Given the description of an element on the screen output the (x, y) to click on. 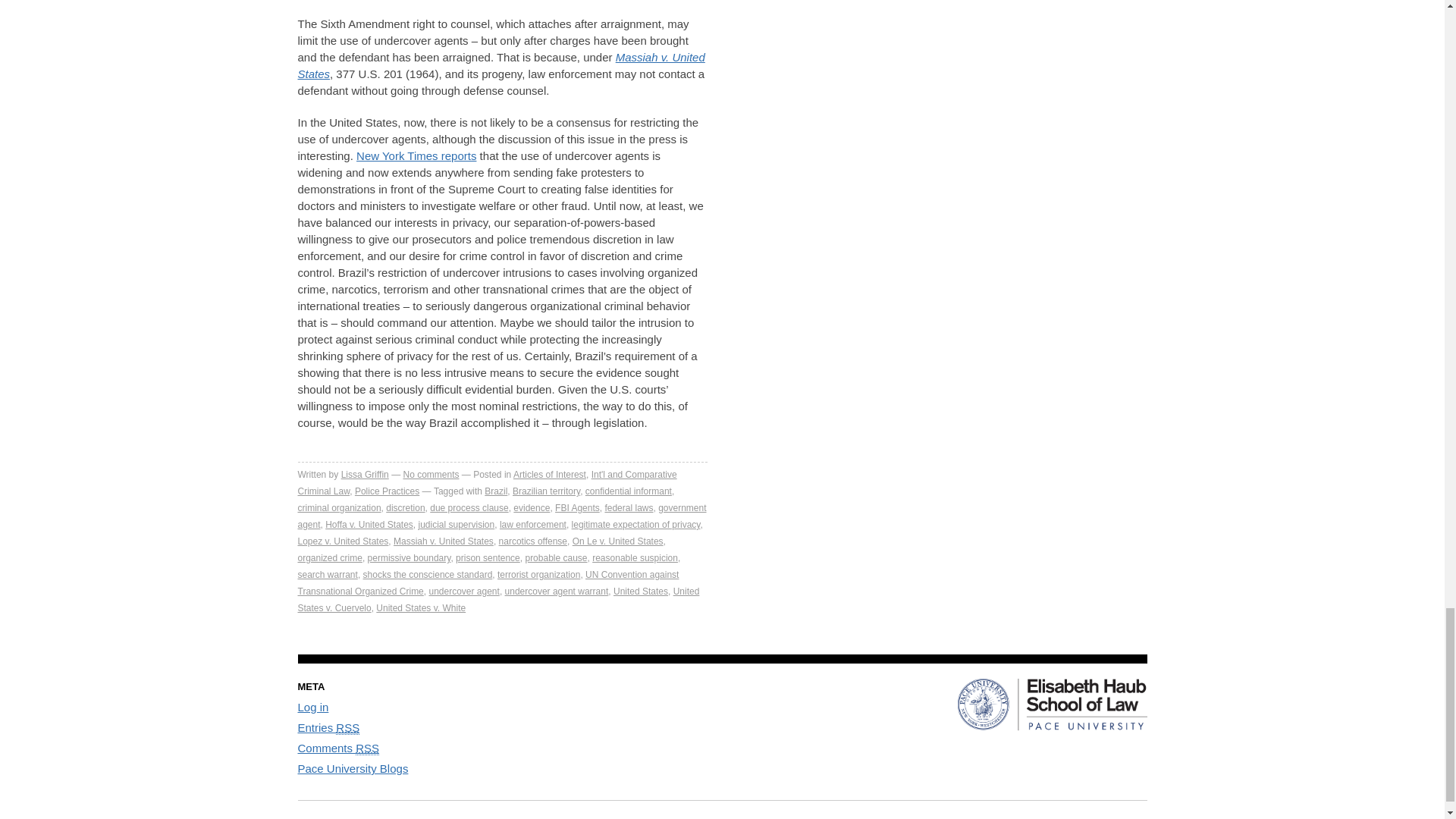
evidence (531, 507)
Lopez v. United States (342, 541)
Powered by Pace University Blogs (352, 768)
Lissa Griffin (364, 474)
Brazil (495, 491)
law enforcement (532, 524)
No comments (430, 474)
government agent (501, 515)
Really Simple Syndication (347, 727)
organized crime (329, 557)
